Given the description of an element on the screen output the (x, y) to click on. 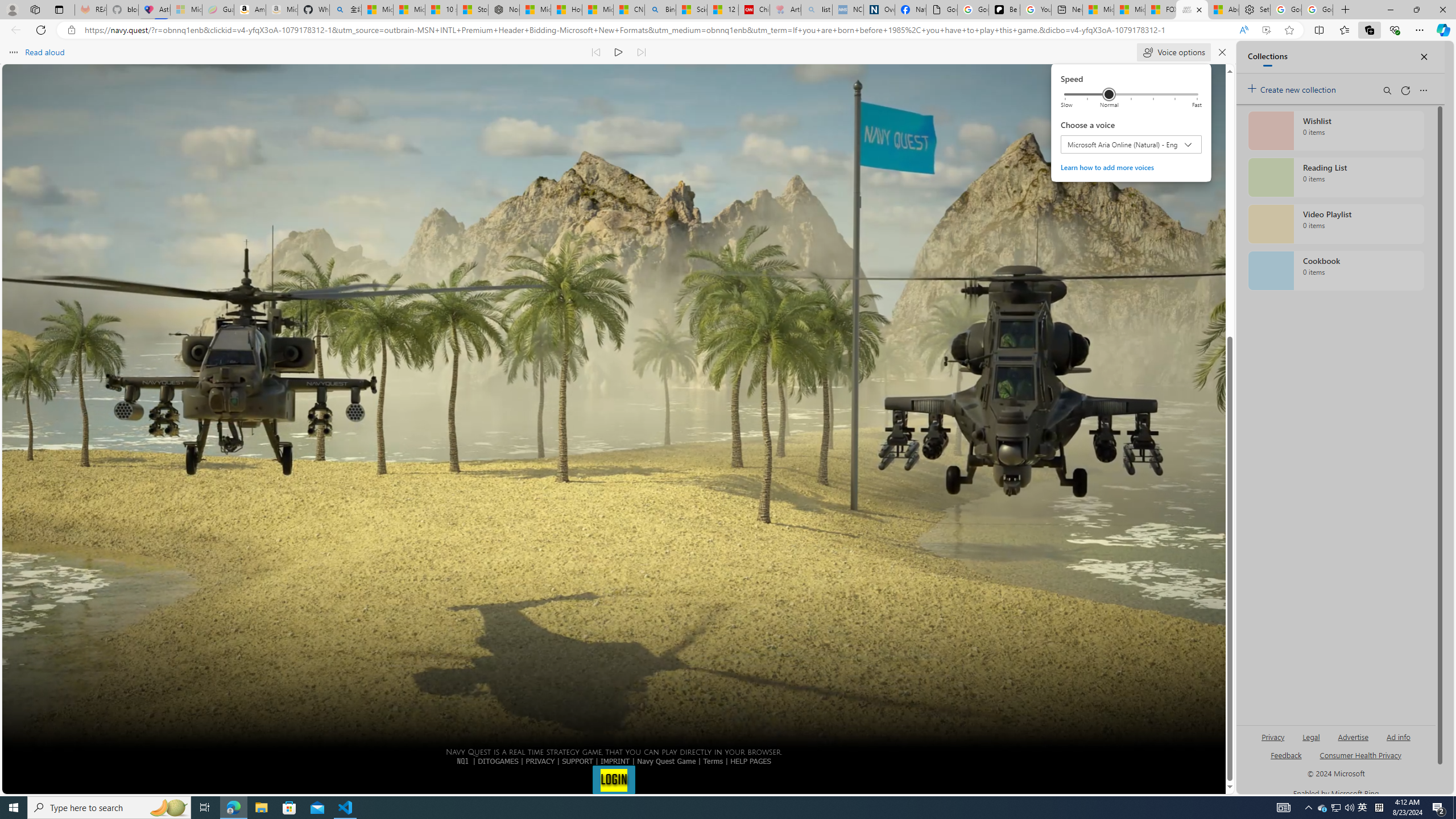
Read previous paragraph (1322, 807)
Visual Studio Code - 1 running window (596, 52)
Type here to search (345, 807)
Arthritis: Ask Health Professionals - Sleeping (108, 807)
